Given the description of an element on the screen output the (x, y) to click on. 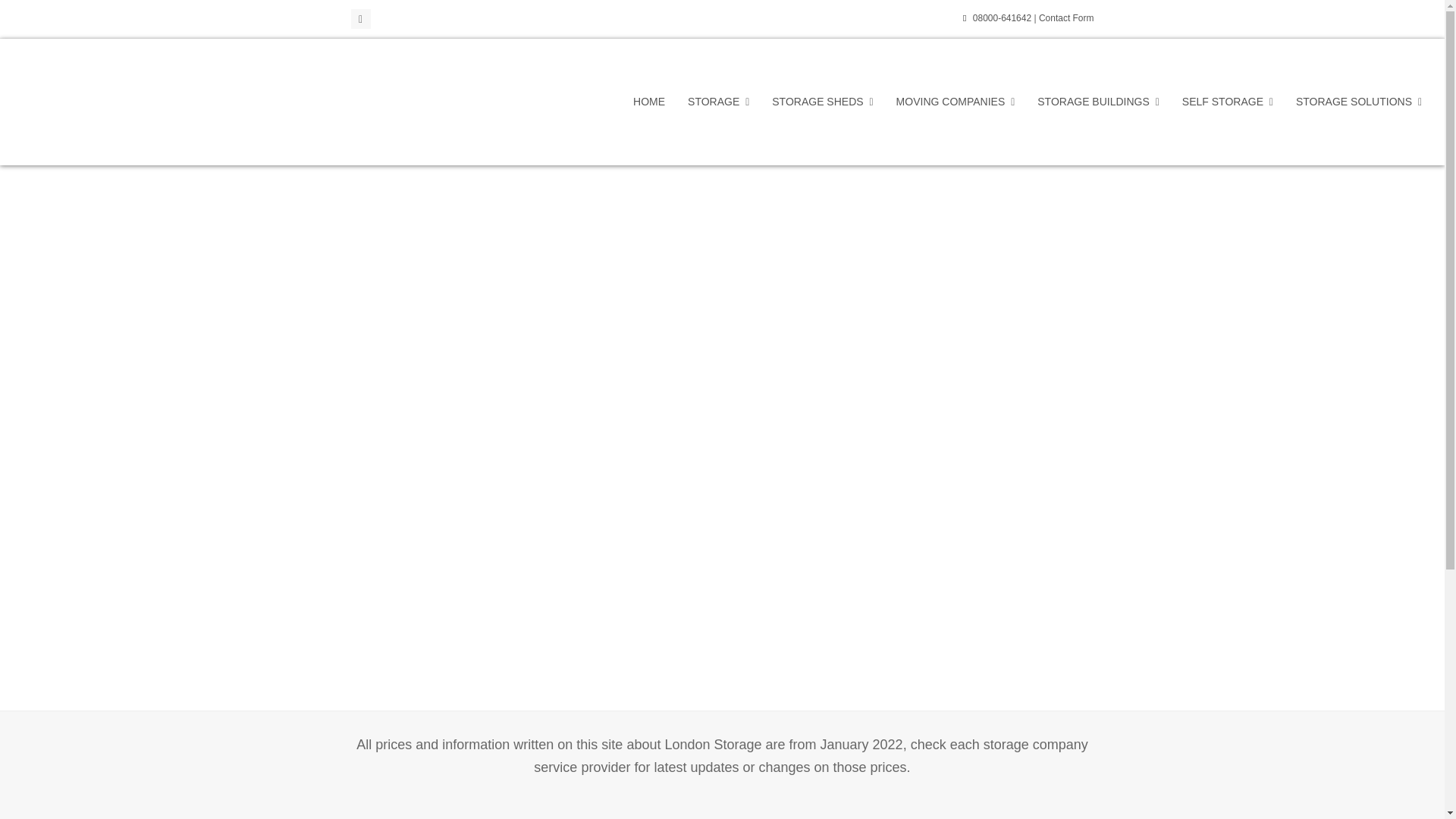
STORAGE SOLUTIONS (1358, 101)
Twitter (359, 18)
HOME (649, 101)
SELF STORAGE (1227, 101)
STORAGE (718, 101)
STORAGE SHEDS (821, 101)
STORAGE BUILDINGS (1098, 101)
08000-641642 (1002, 18)
Contact Form (1066, 18)
Twitter (359, 18)
